Given the description of an element on the screen output the (x, y) to click on. 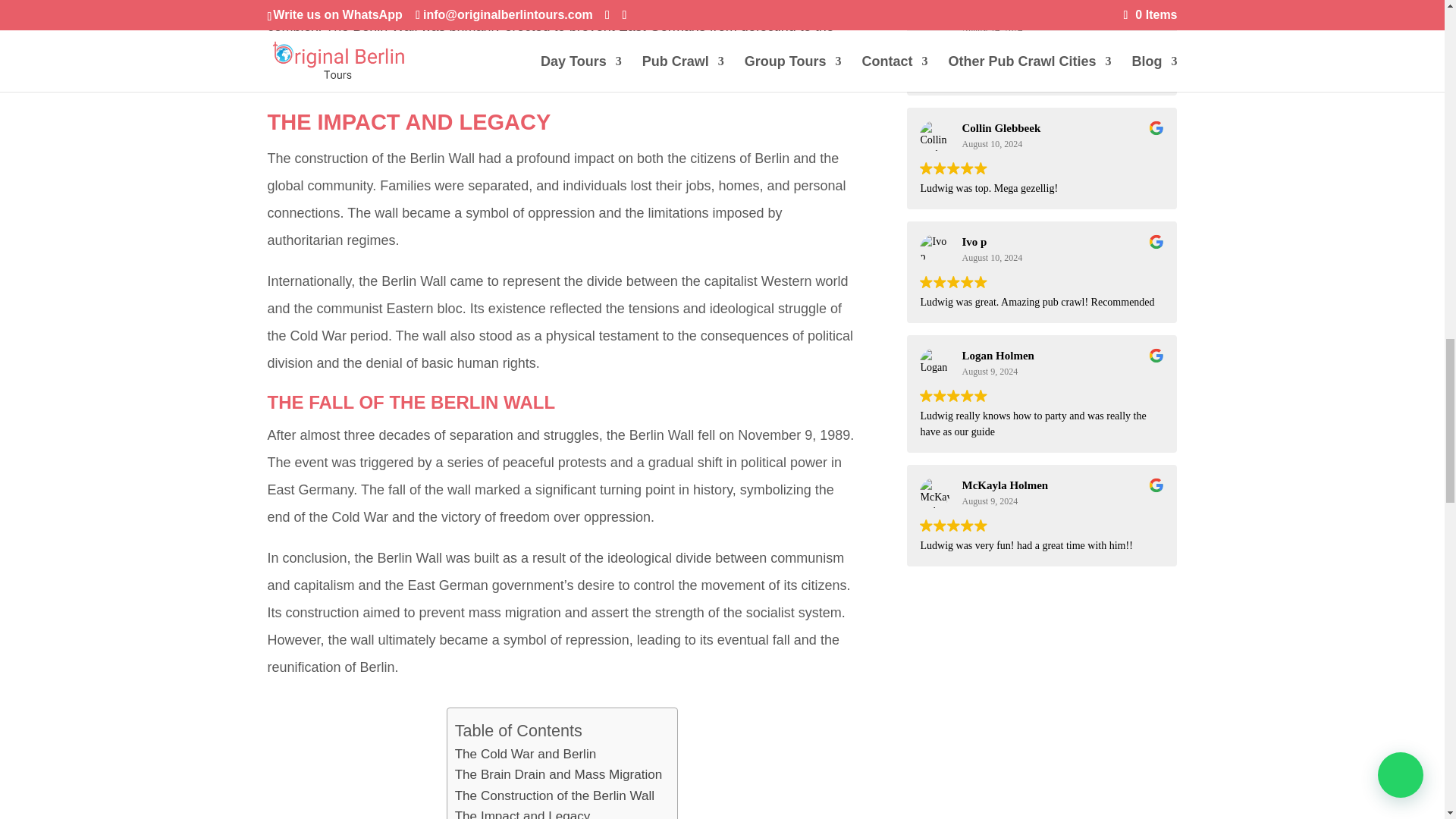
The Cold War and Berlin (525, 753)
The Construction of the Berlin Wall (553, 795)
The Brain Drain and Mass Migration (558, 774)
The Impact and Legacy (522, 812)
